Given the description of an element on the screen output the (x, y) to click on. 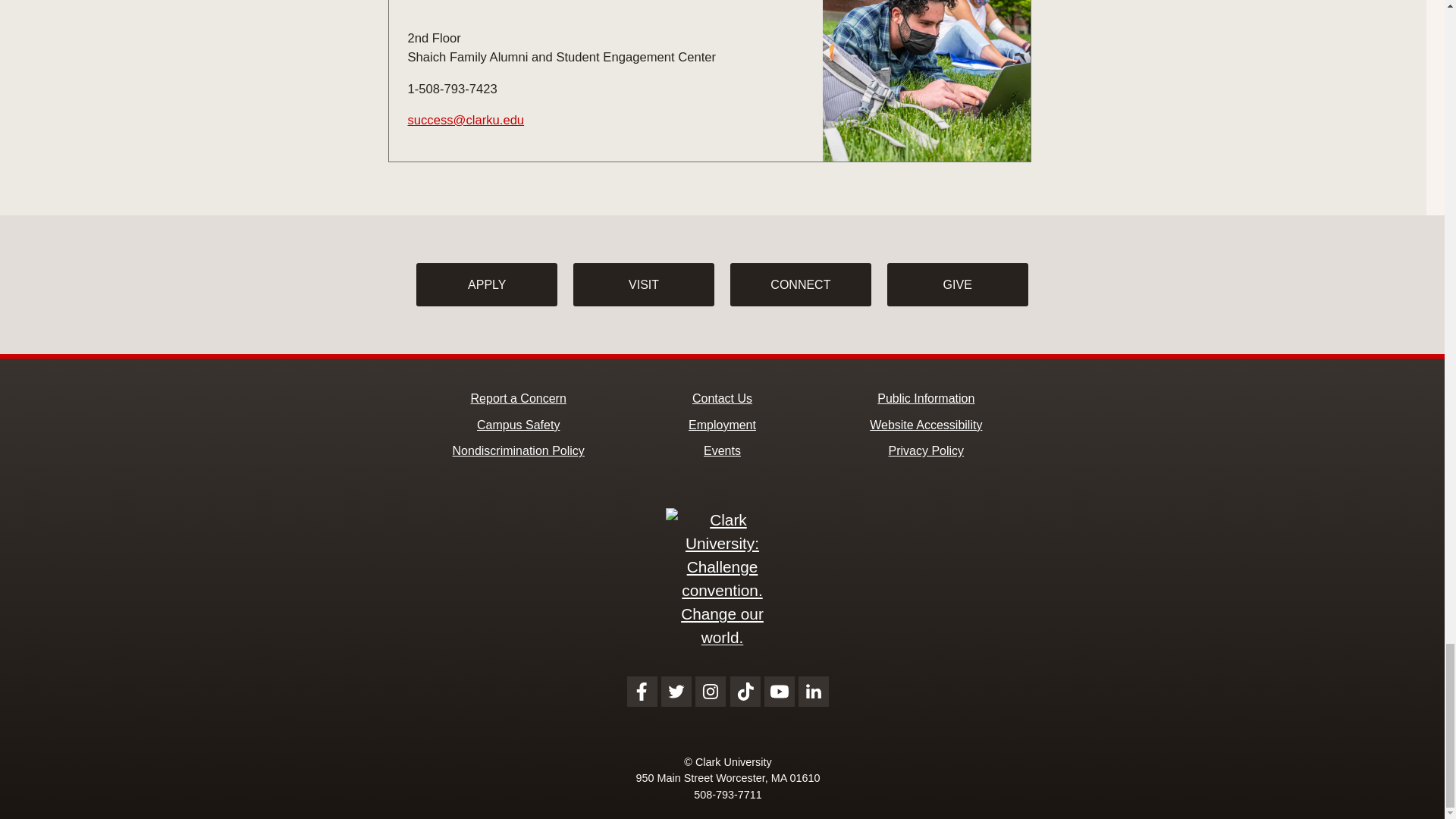
Campus Safety (518, 424)
Website Accessibility (925, 424)
Tiktok (745, 691)
Facebook (642, 691)
Youtube (779, 691)
APPLY (486, 284)
Report a Concern (518, 398)
Privacy Policy (925, 450)
Nondiscrimination Policy (518, 450)
Employment (721, 424)
VISIT (643, 284)
Contact Us (722, 398)
GIVE (956, 284)
CONNECT (800, 284)
Twitter (676, 691)
